Given the description of an element on the screen output the (x, y) to click on. 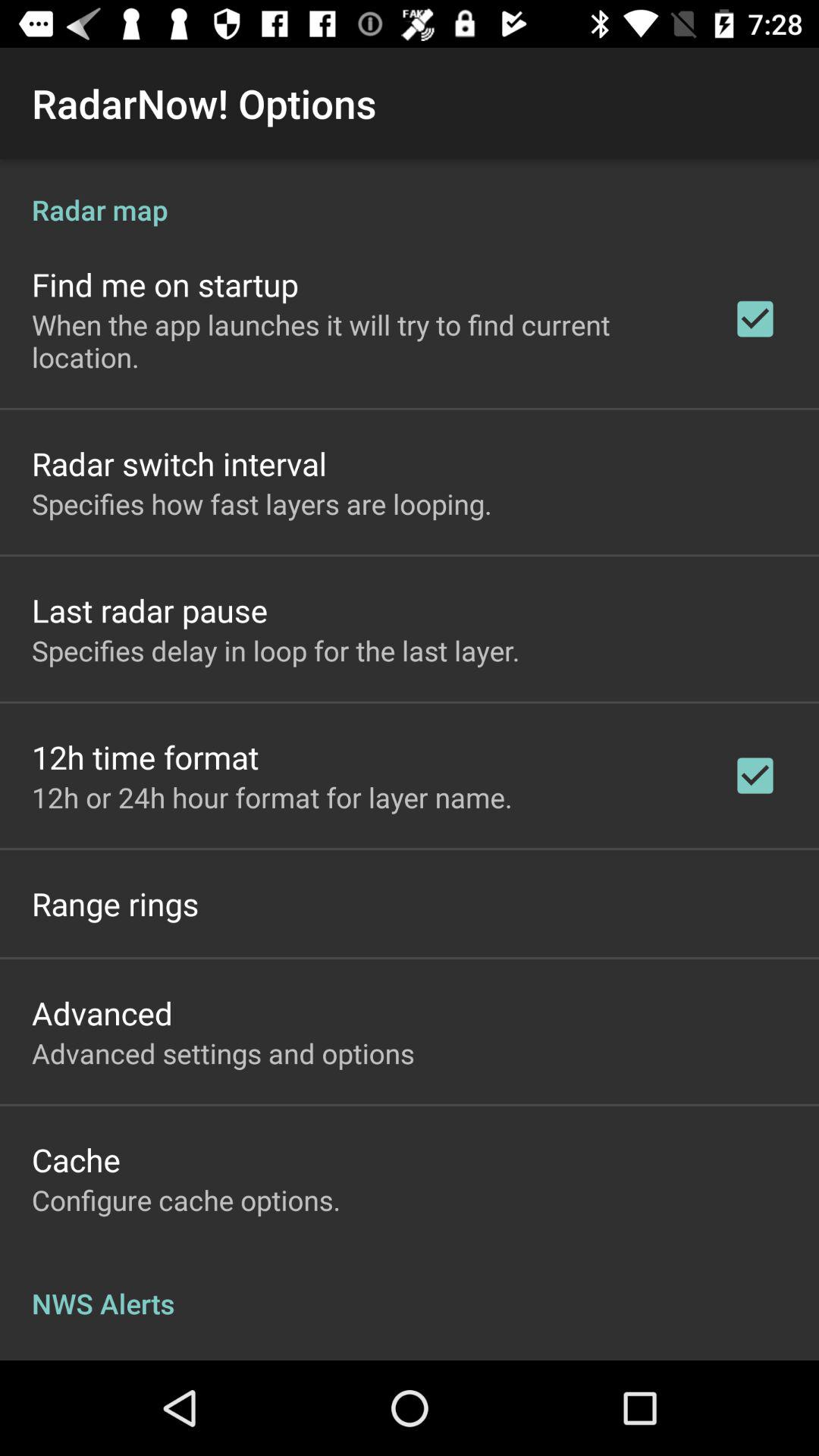
choose nws alerts item (409, 1287)
